Given the description of an element on the screen output the (x, y) to click on. 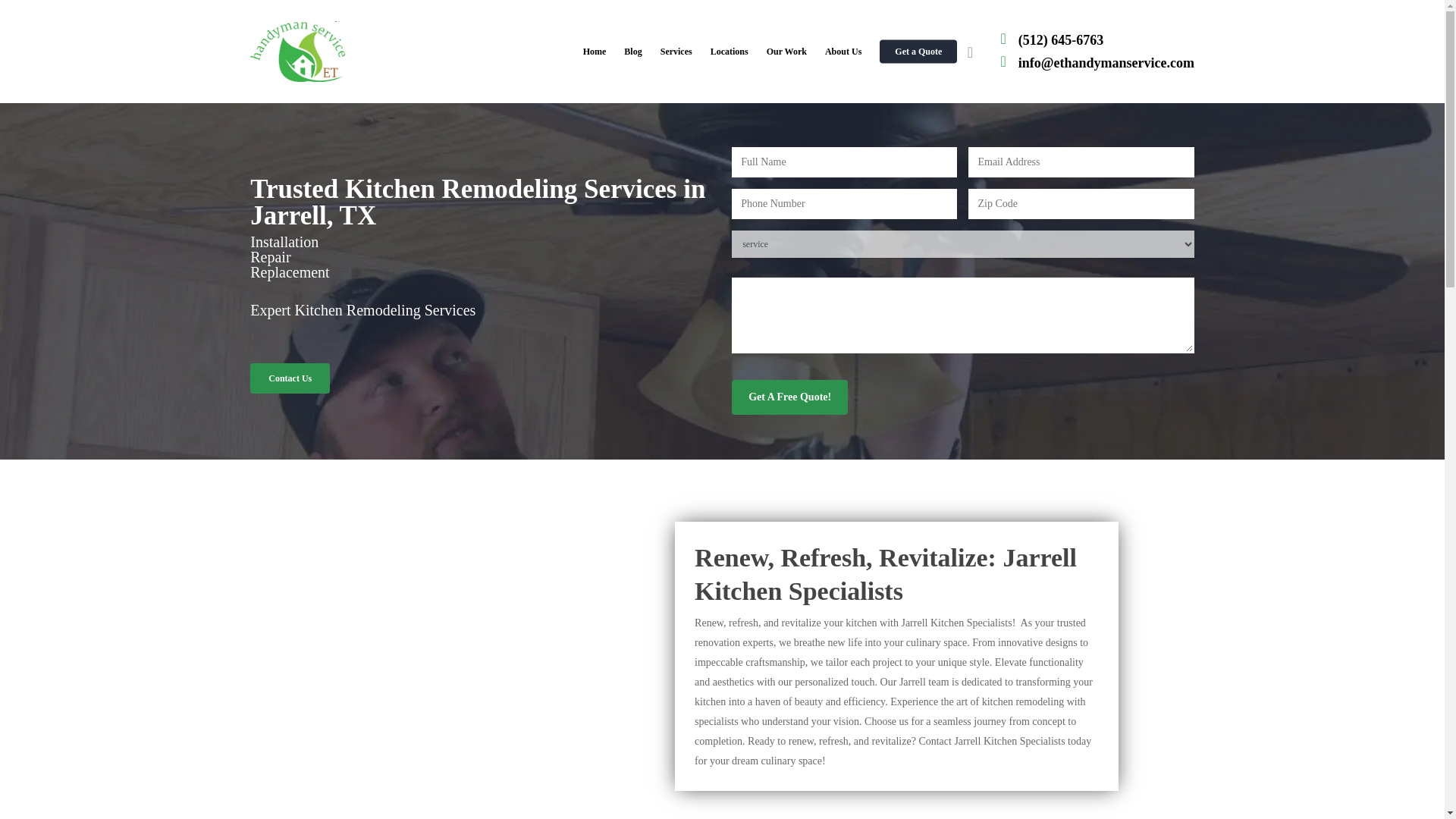
Blog (632, 51)
Our Work (786, 51)
Locations (729, 51)
Get A Free Quote! (789, 397)
Get A Free Quote! (789, 397)
Contact Us (290, 378)
Get a Quote (917, 51)
Services (675, 51)
Home (594, 51)
About Us (842, 51)
